Given the description of an element on the screen output the (x, y) to click on. 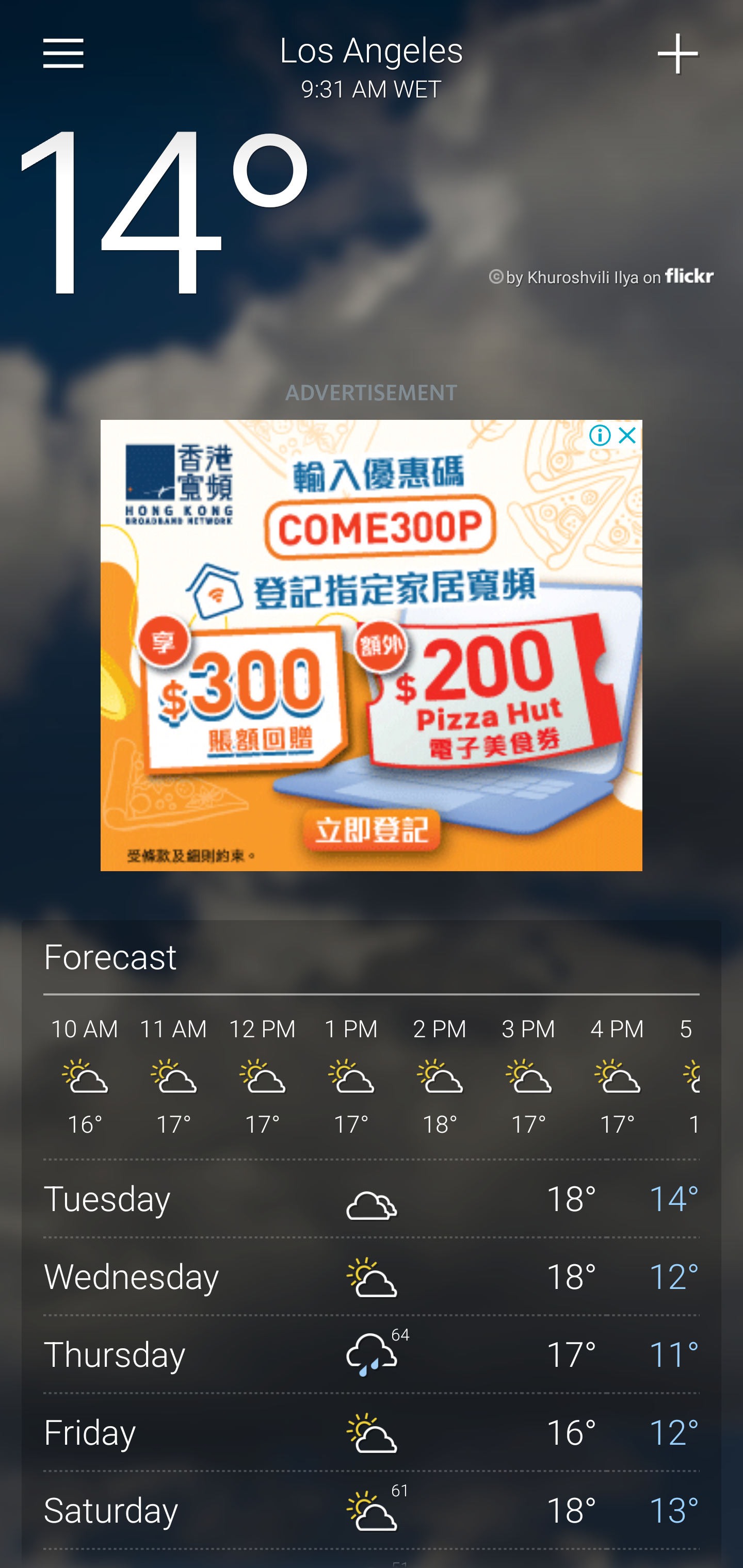
Sidebar (64, 54)
Add City (678, 53)
Advertisement (371, 645)
